Given the description of an element on the screen output the (x, y) to click on. 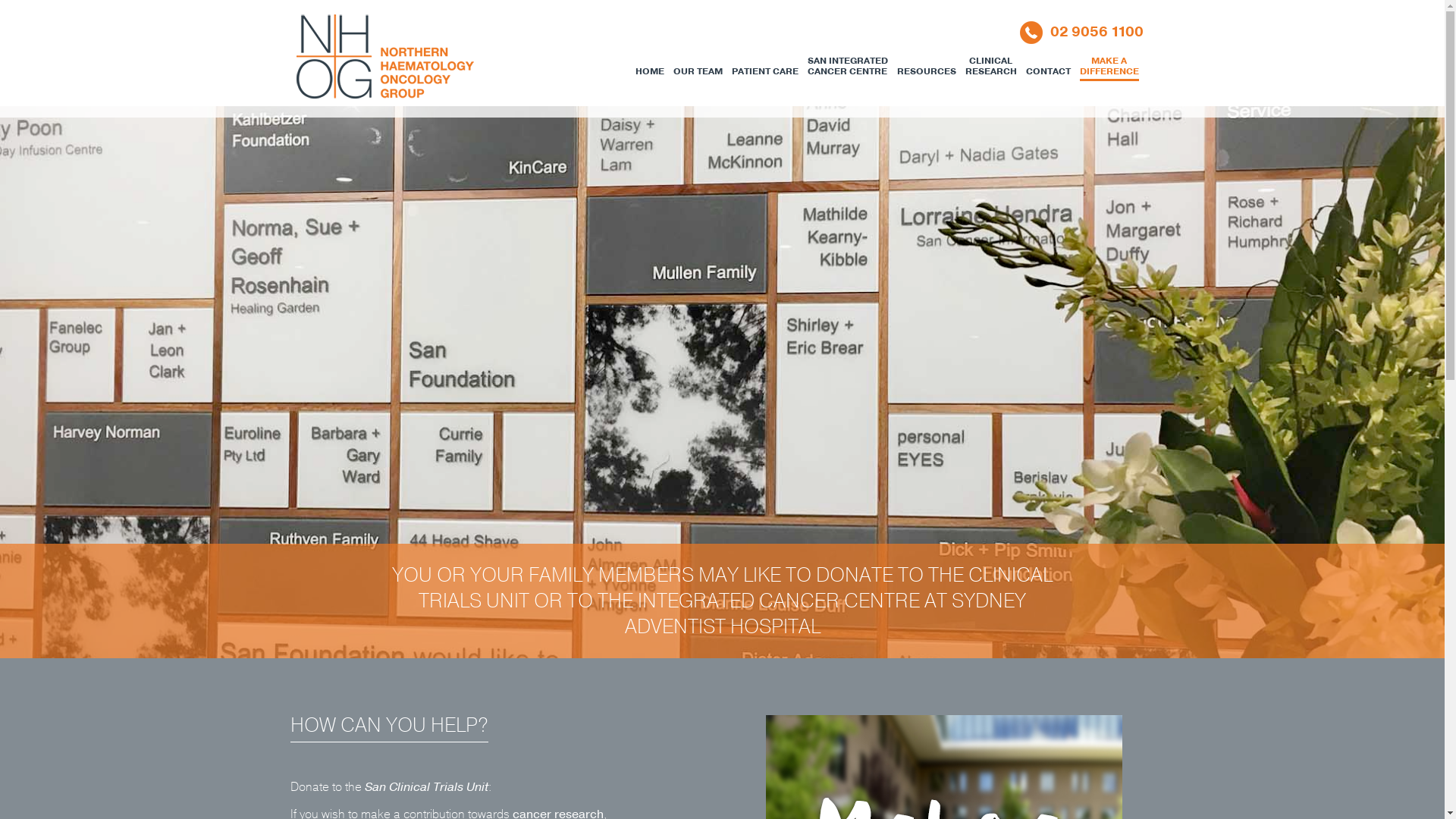
CLINICAL
RESEARCH Element type: text (990, 62)
02 9056 1100 Element type: text (1077, 31)
OUR TEAM Element type: text (697, 62)
PATIENT CARE Element type: text (764, 62)
RESOURCES Element type: text (925, 62)
MAKE A
DIFFERENCE Element type: text (1109, 62)
HOME Element type: text (649, 62)
SAN INTEGRATED
CANCER CENTRE Element type: text (846, 62)
CONTACT Element type: text (1047, 62)
San Clinical Trials Unit Element type: text (425, 786)
